Given the description of an element on the screen output the (x, y) to click on. 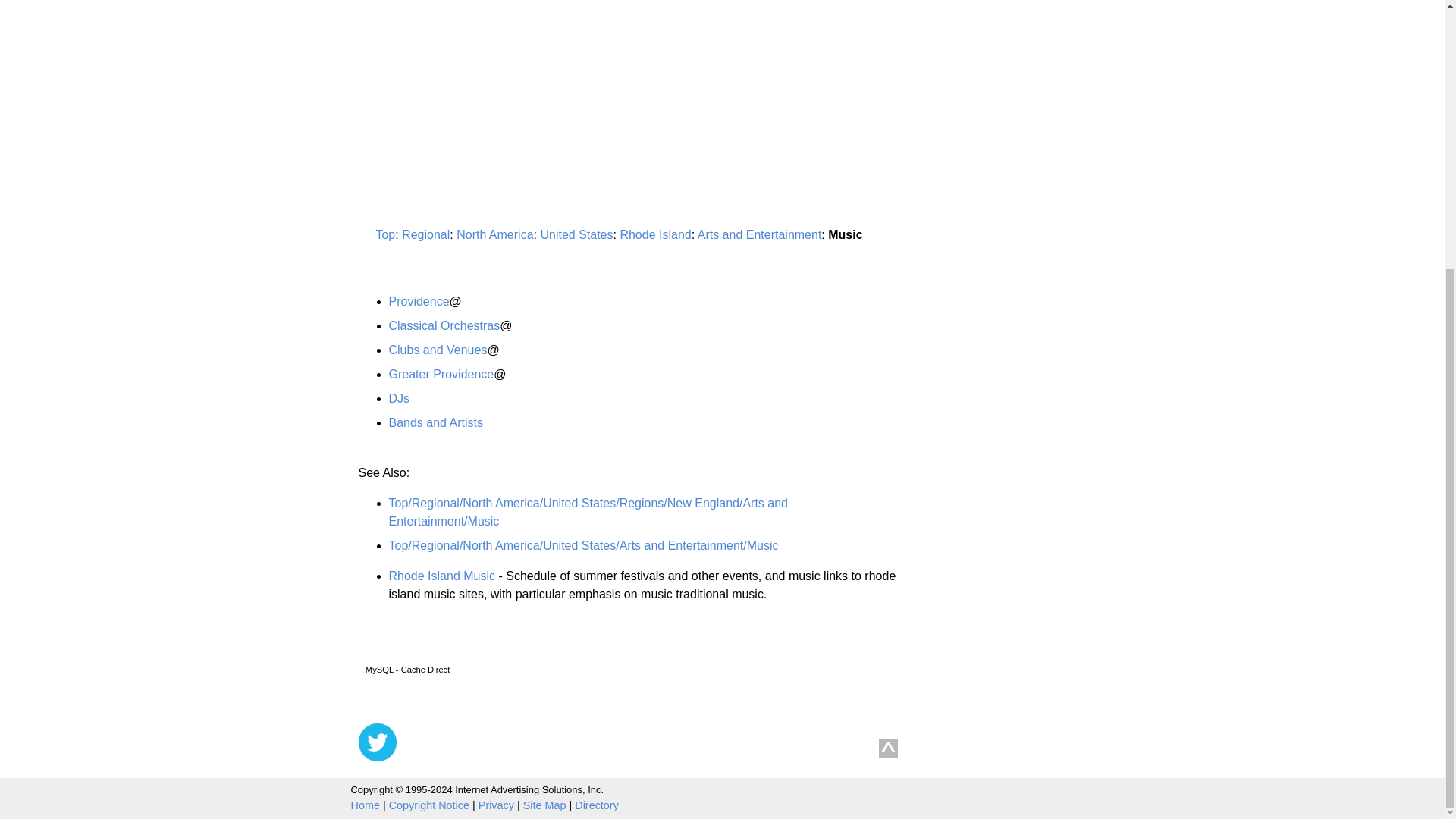
Advertisement (485, 37)
DJs (398, 398)
Regional (425, 234)
Privacy (496, 805)
Directory (596, 805)
Home (364, 805)
Rhode Island Music (441, 575)
Providence (418, 300)
Follow IAS Directory on Twitter (377, 742)
Arts and Entertainment (759, 234)
Clubs and Venues (437, 349)
United States (576, 234)
North America (494, 234)
Classical Orchestras (443, 325)
Greater Providence (440, 373)
